Given the description of an element on the screen output the (x, y) to click on. 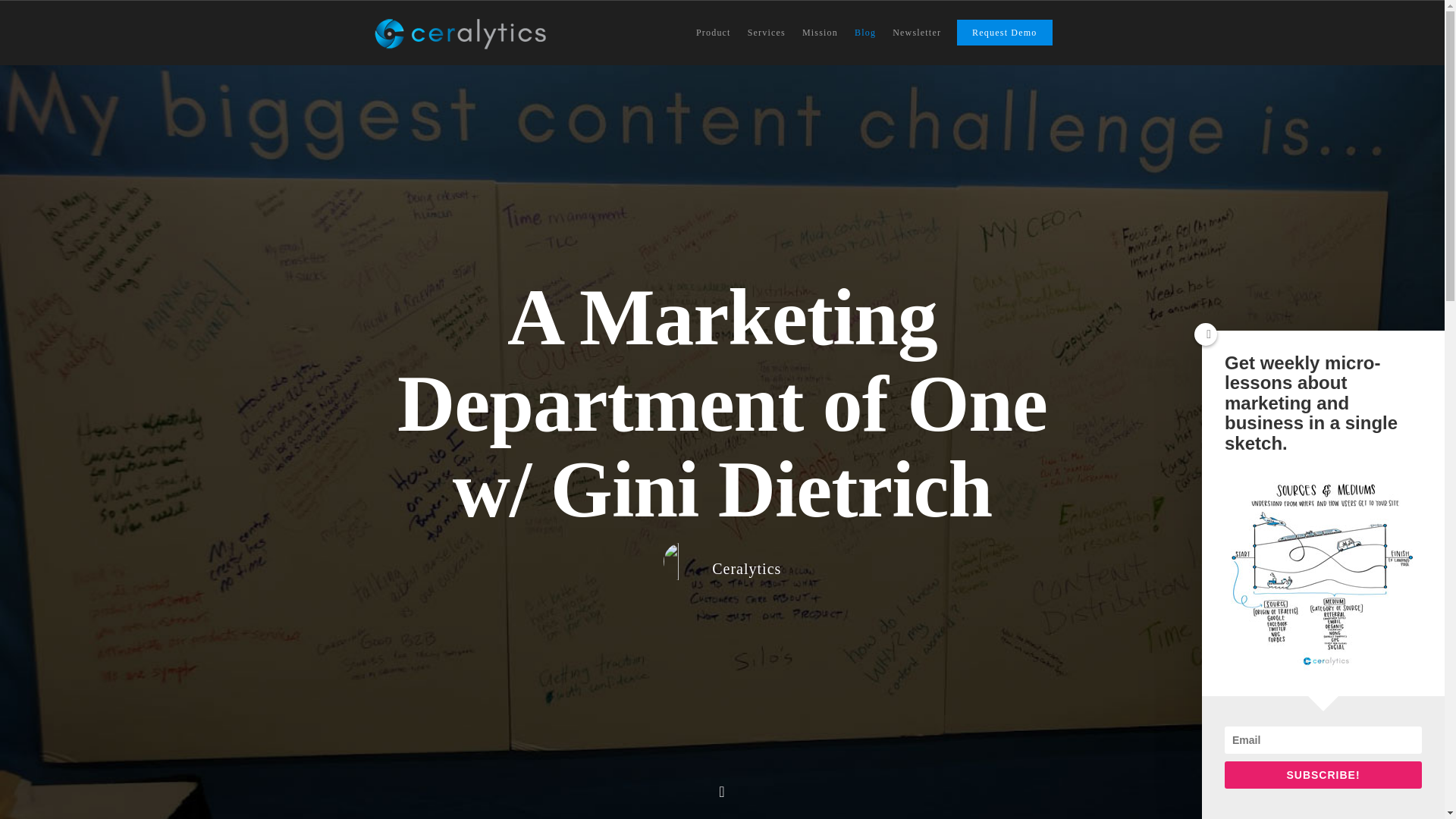
Product (713, 41)
Posts by Ceralytics (745, 568)
Services (766, 41)
Ceralytics (745, 568)
Mission (819, 41)
Request Demo (1003, 41)
Newsletter (917, 41)
